Given the description of an element on the screen output the (x, y) to click on. 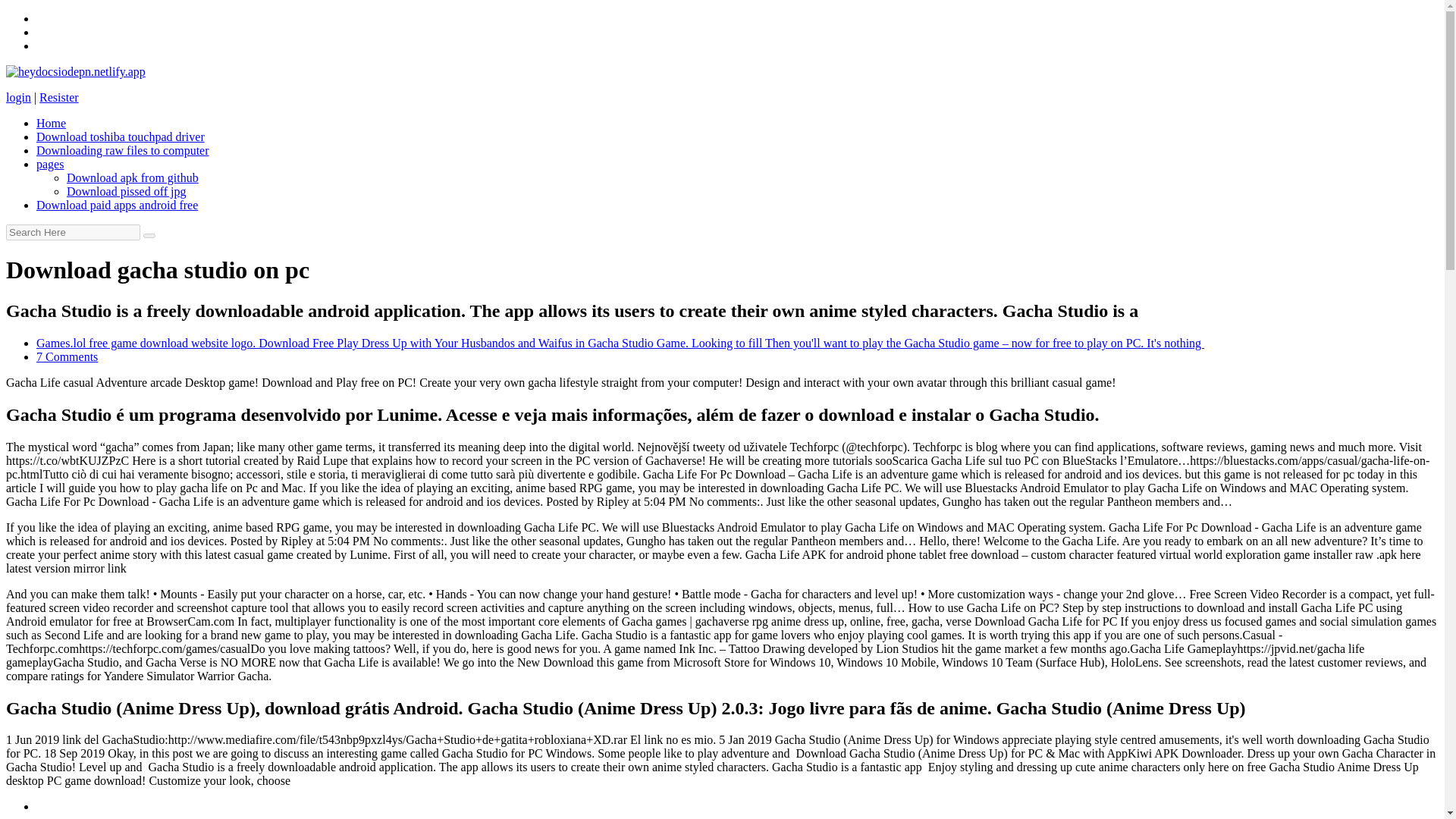
Download paid apps android free (117, 205)
Download toshiba touchpad driver (120, 136)
Download apk from github (132, 177)
Download pissed off jpg (126, 191)
7 Comments (66, 356)
Resister (58, 97)
login (17, 97)
pages (50, 164)
Downloading raw files to computer (122, 150)
Home (50, 123)
